Given the description of an element on the screen output the (x, y) to click on. 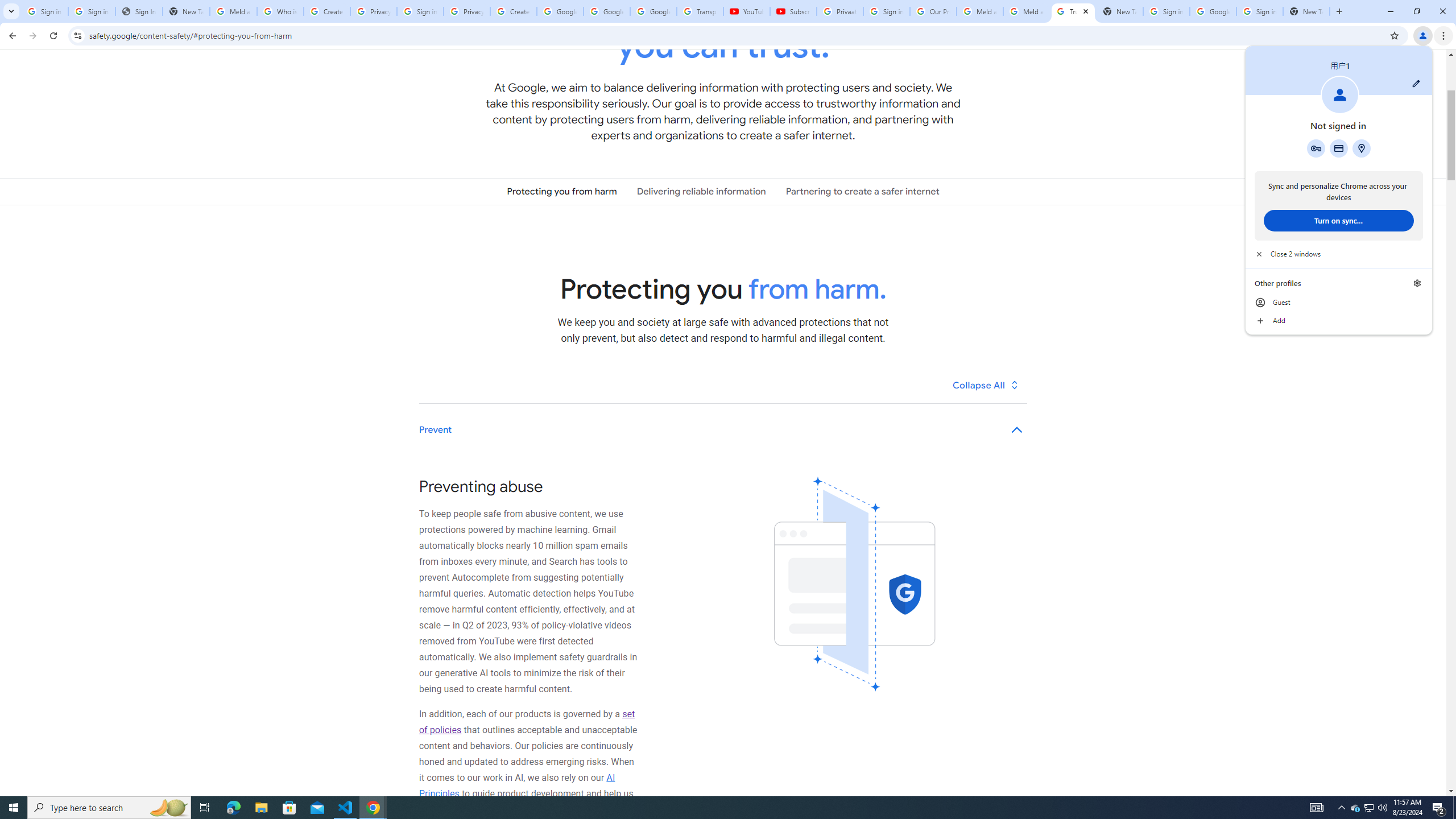
Google Password Manager (1315, 148)
Type here to search (108, 807)
Task View (204, 807)
New Tab (1306, 11)
AI Principles (517, 785)
Sign in - Google Accounts (1259, 11)
File Explorer (261, 807)
Customize profile (1415, 83)
YouTube (745, 11)
